Given the description of an element on the screen output the (x, y) to click on. 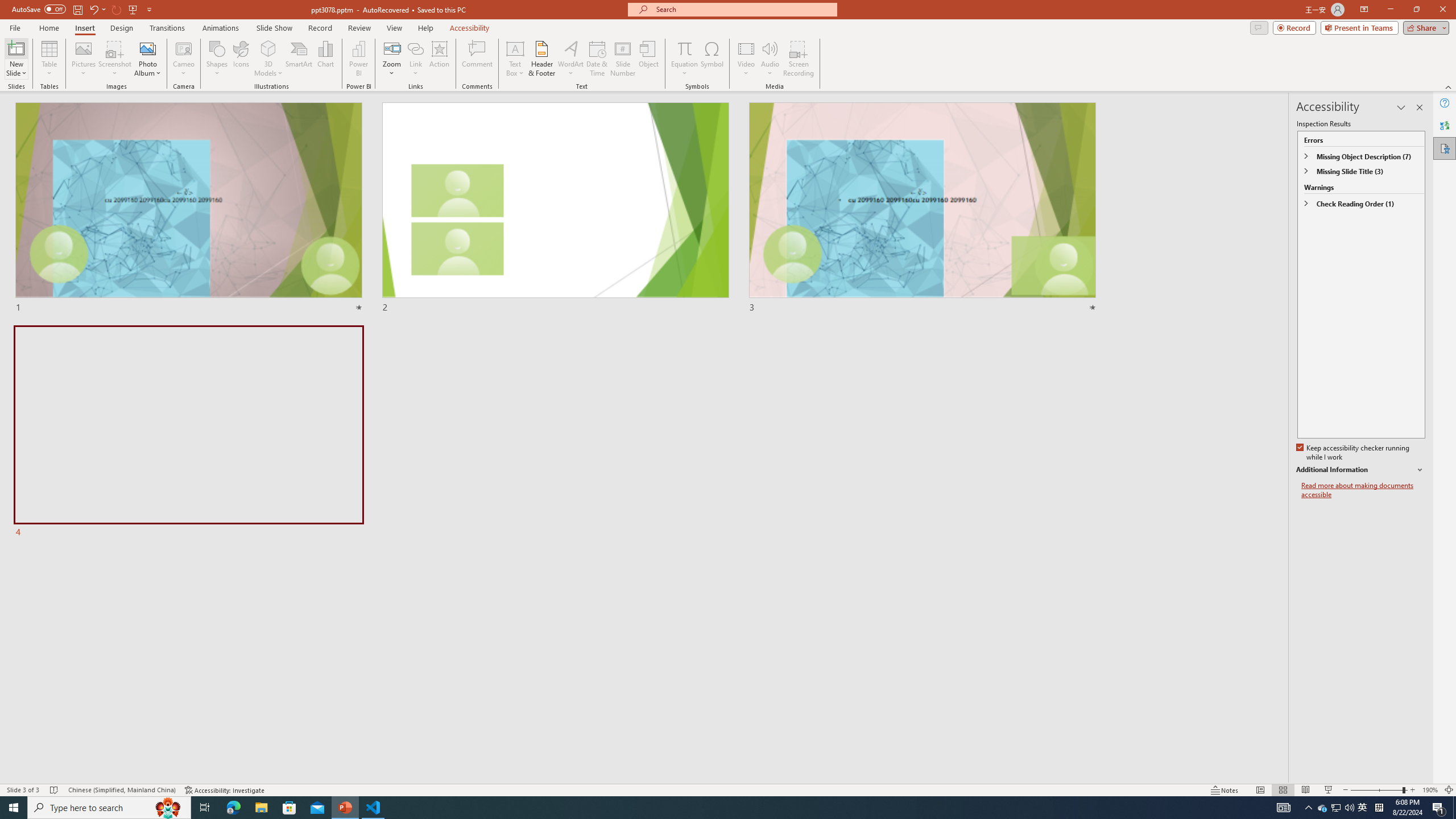
Screen Recording... (798, 58)
Link (415, 58)
Date & Time... (596, 58)
Table (49, 58)
Draw Horizontal Text Box (515, 48)
Action (439, 58)
3D Models (268, 48)
